Given the description of an element on the screen output the (x, y) to click on. 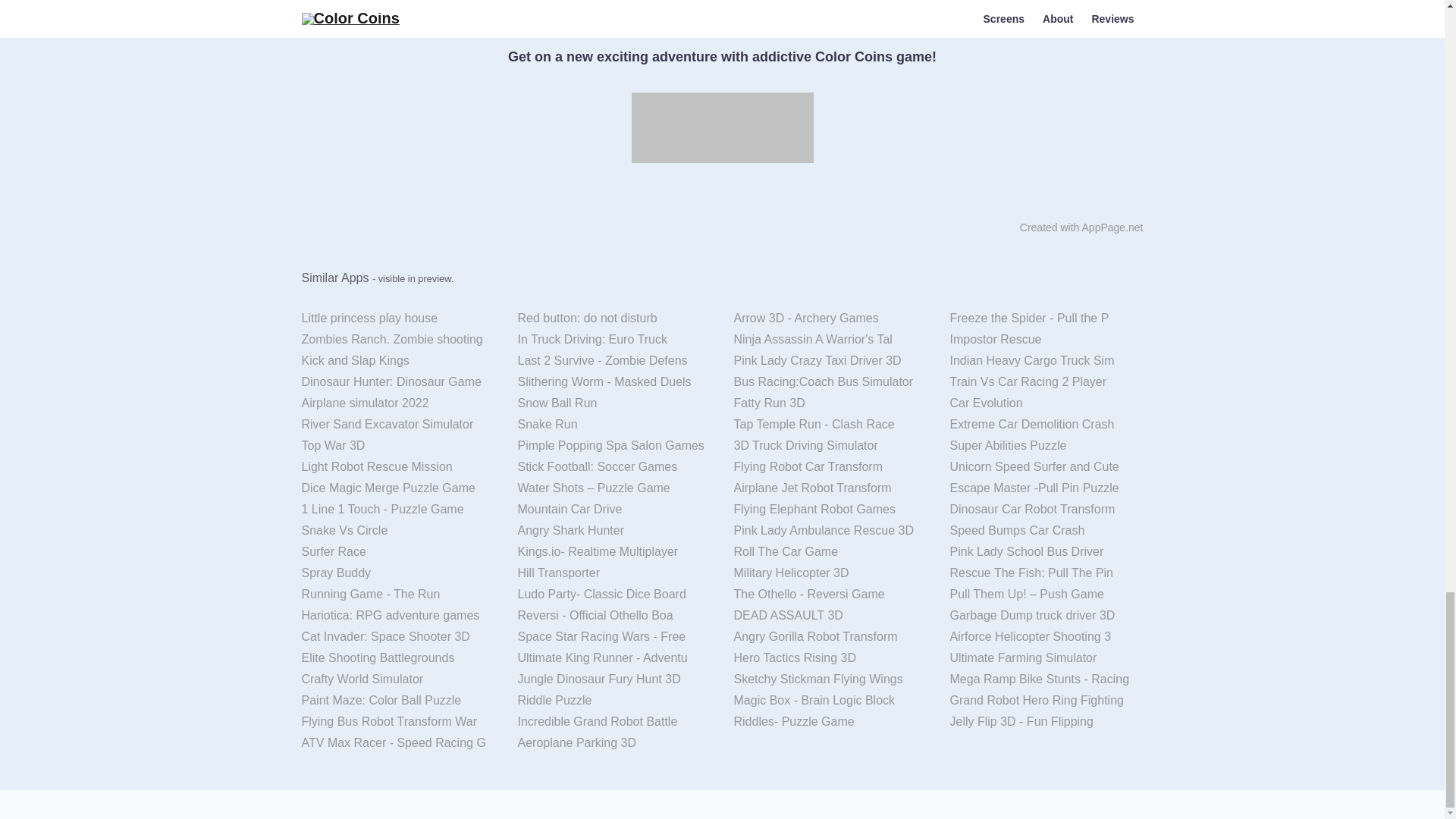
Dinosaur Hunter: Dinosaur Game (397, 382)
Ninja Assassin A Warrior's Tal (829, 339)
Red button: do not disturb (614, 318)
Pink Lady Crazy Taxi Driver 3D (829, 360)
Snake Run (614, 424)
Snow Ball Run (614, 403)
Zombies Ranch. Zombie shooting (397, 339)
Bus Racing:Coach Bus Simulator (829, 382)
Slithering Worm - Masked Duels (614, 382)
Airplane simulator 2022 (397, 403)
